Given the description of an element on the screen output the (x, y) to click on. 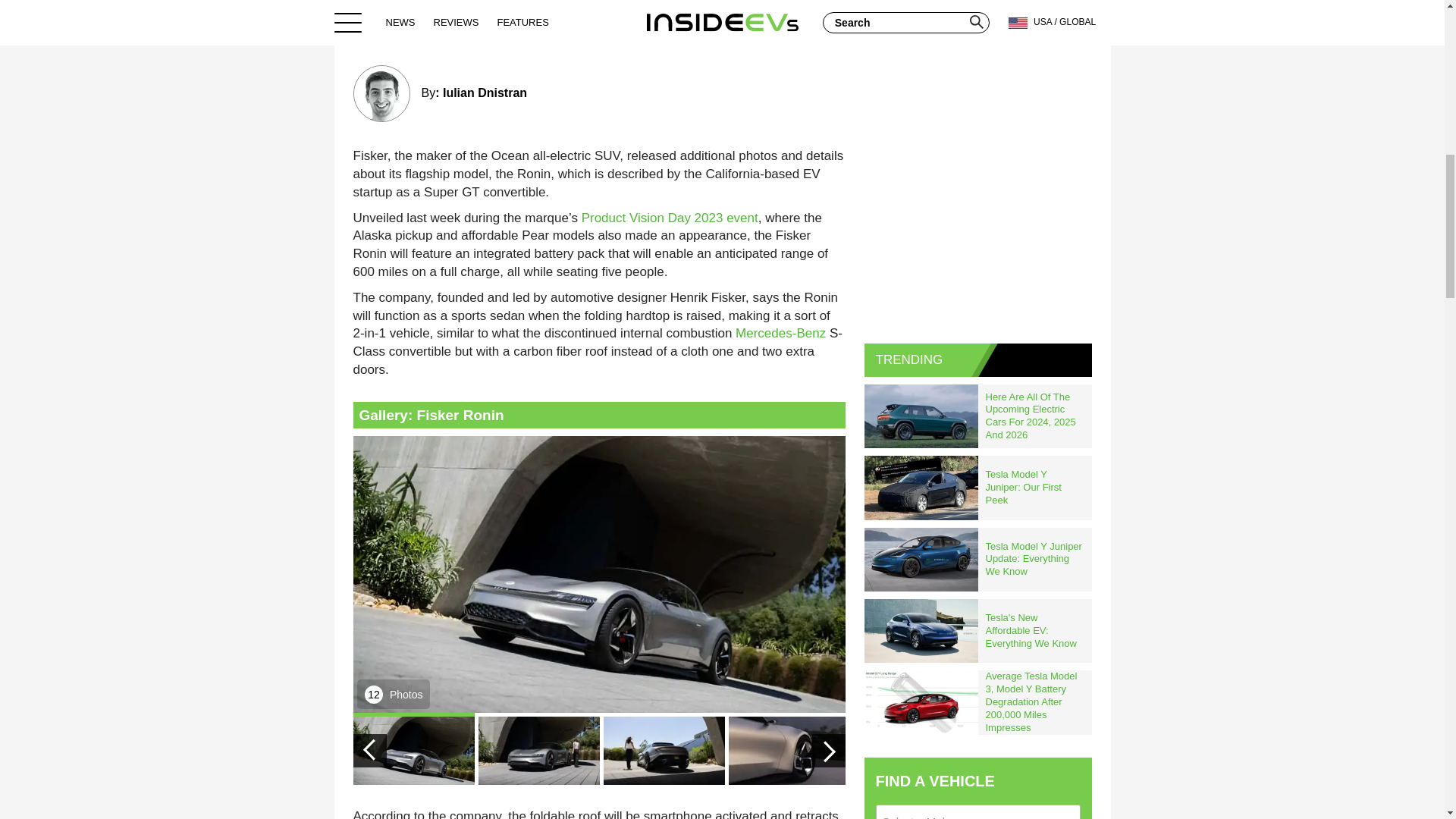
Mercedes-Benz (780, 332)
0 (826, 30)
Iulian Dnistran (484, 92)
Product Vision Day 2023 event (669, 217)
